Given the description of an element on the screen output the (x, y) to click on. 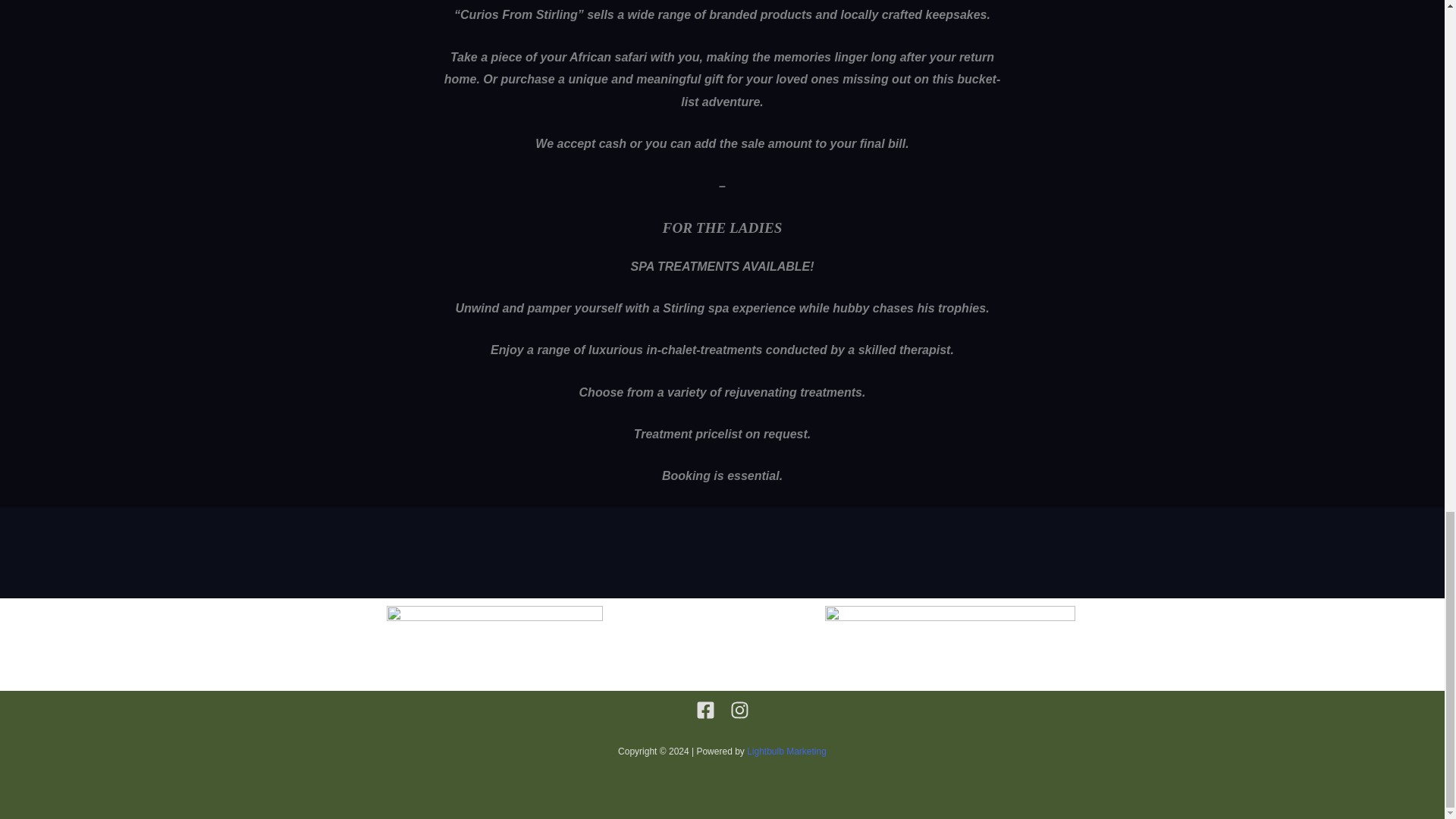
Lightbulb Marketing (786, 751)
